Given the description of an element on the screen output the (x, y) to click on. 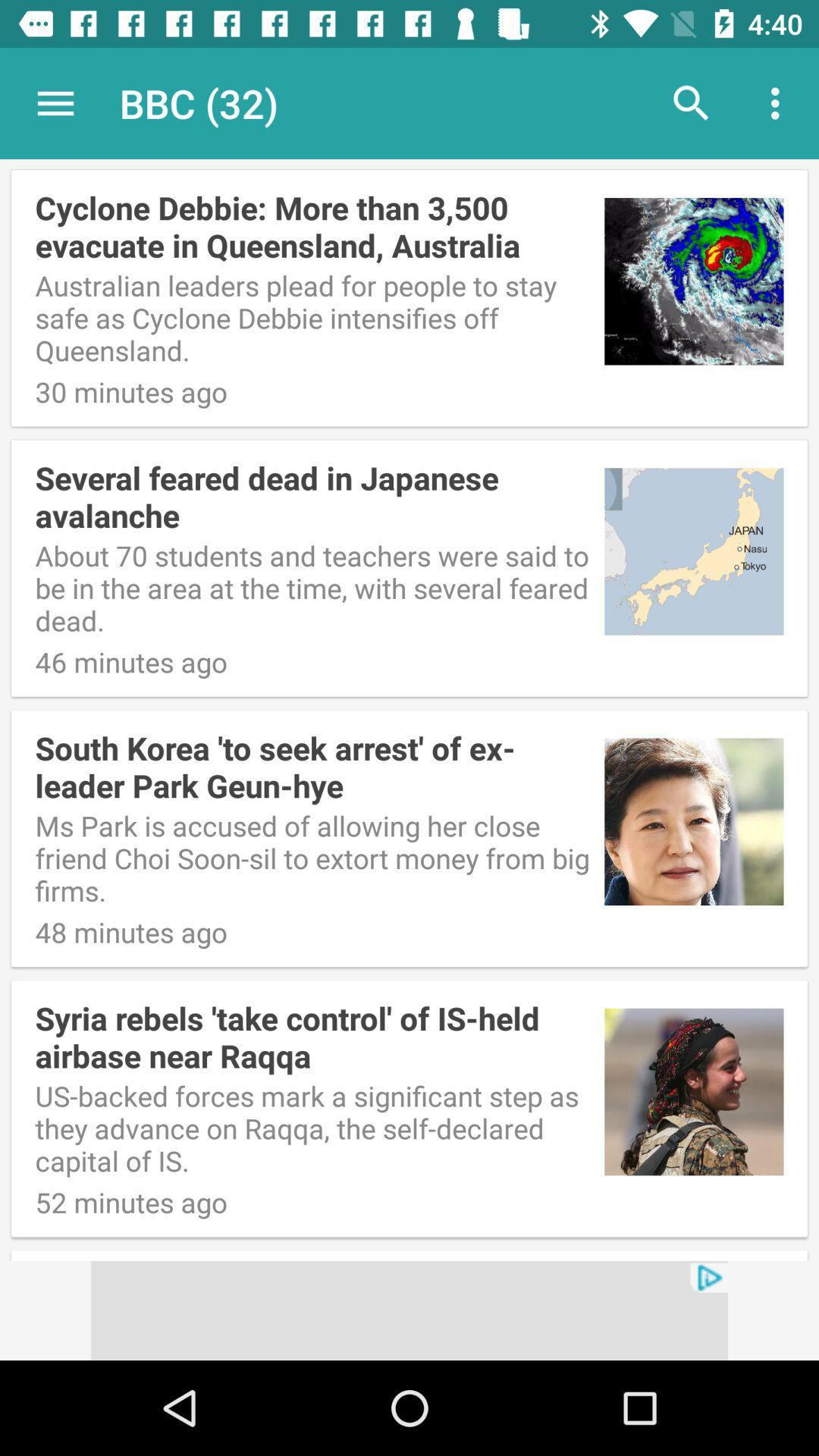
turn off app next to the bbc (32) item (691, 103)
